Given the description of an element on the screen output the (x, y) to click on. 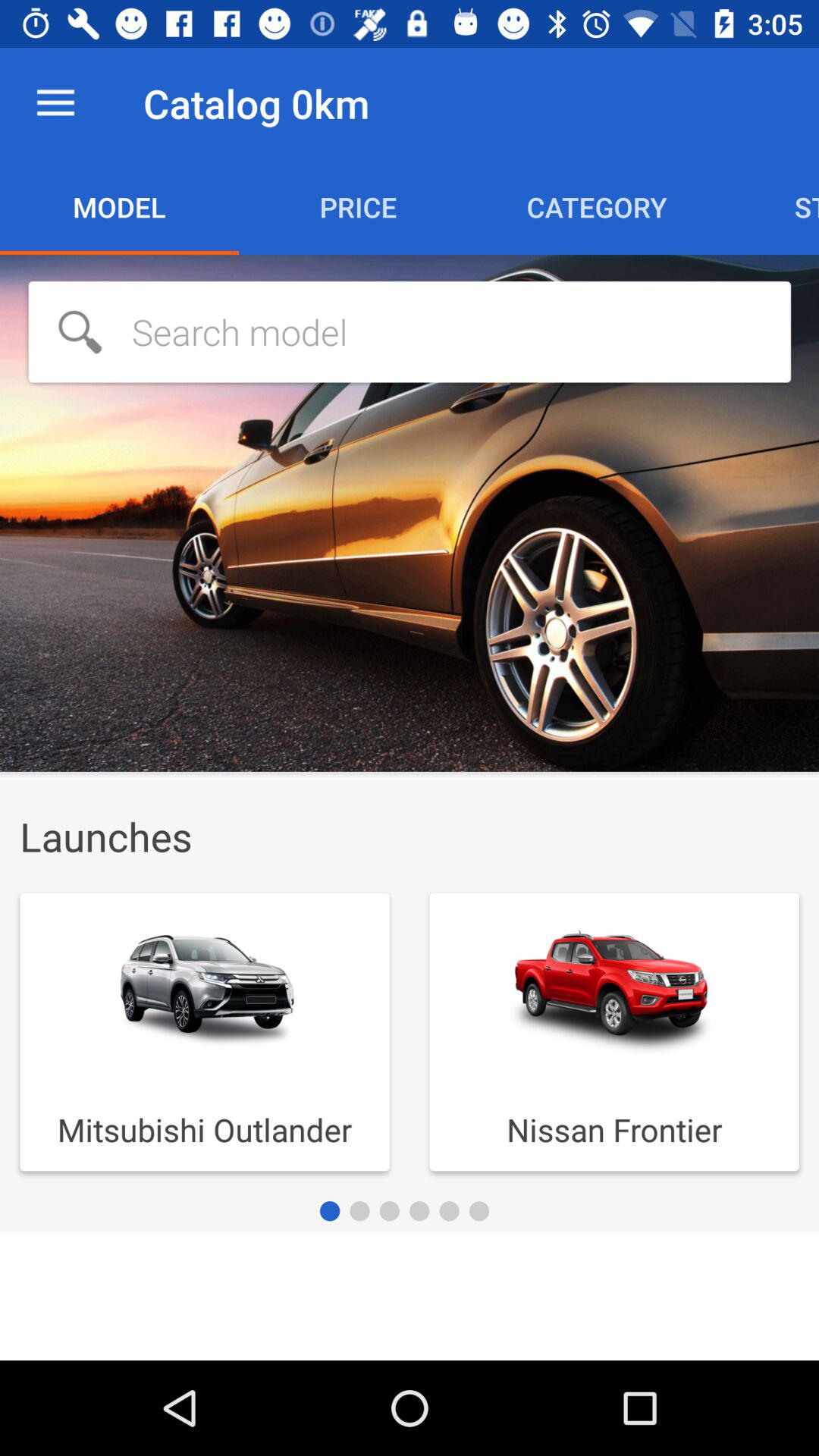
select the item to the left of catalog 0km item (55, 103)
